Given the description of an element on the screen output the (x, y) to click on. 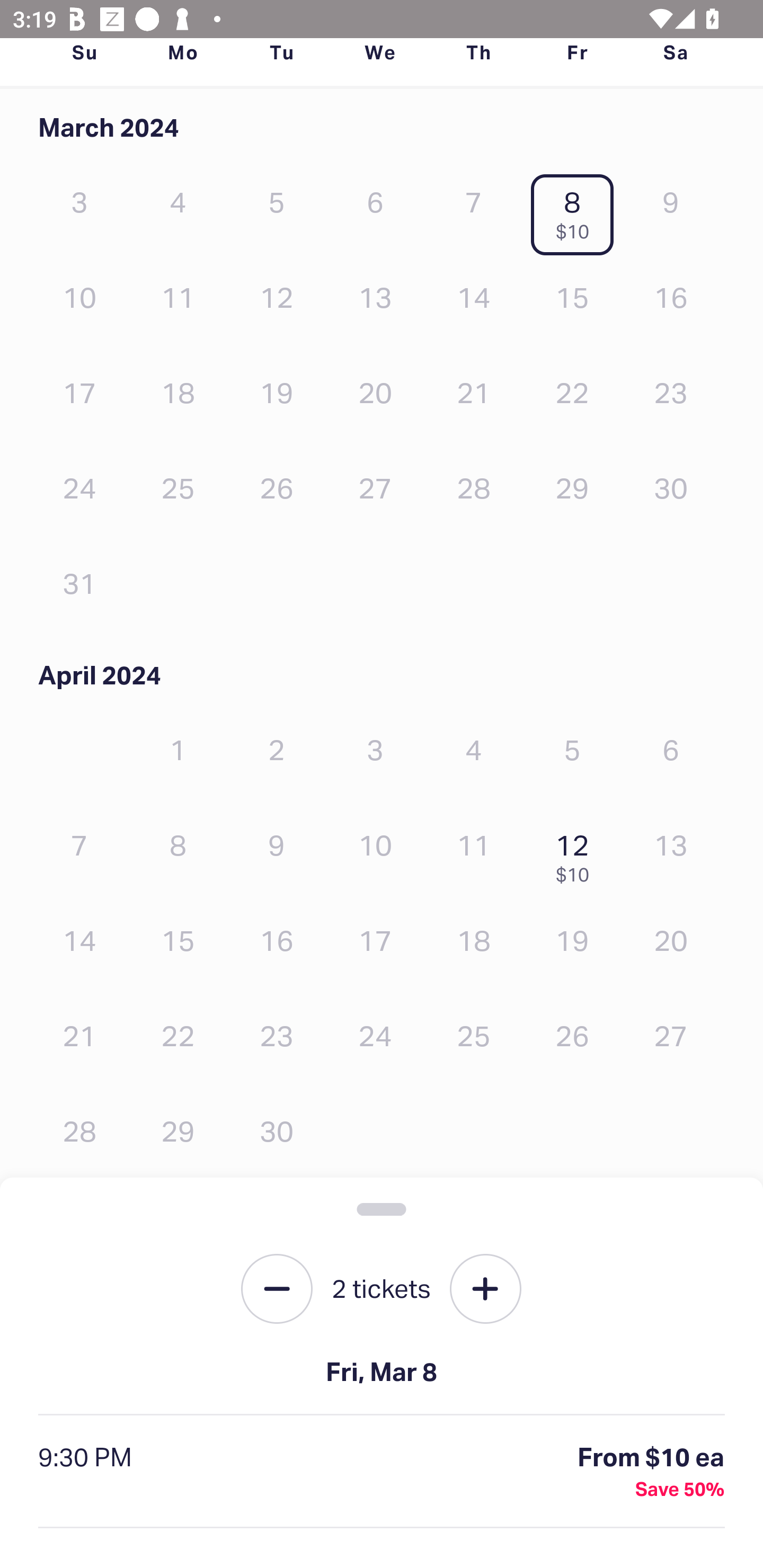
8 $10 (577, 210)
12 $10 (577, 853)
9:30 PM From $10 ea Save 50% (381, 1471)
